Given the description of an element on the screen output the (x, y) to click on. 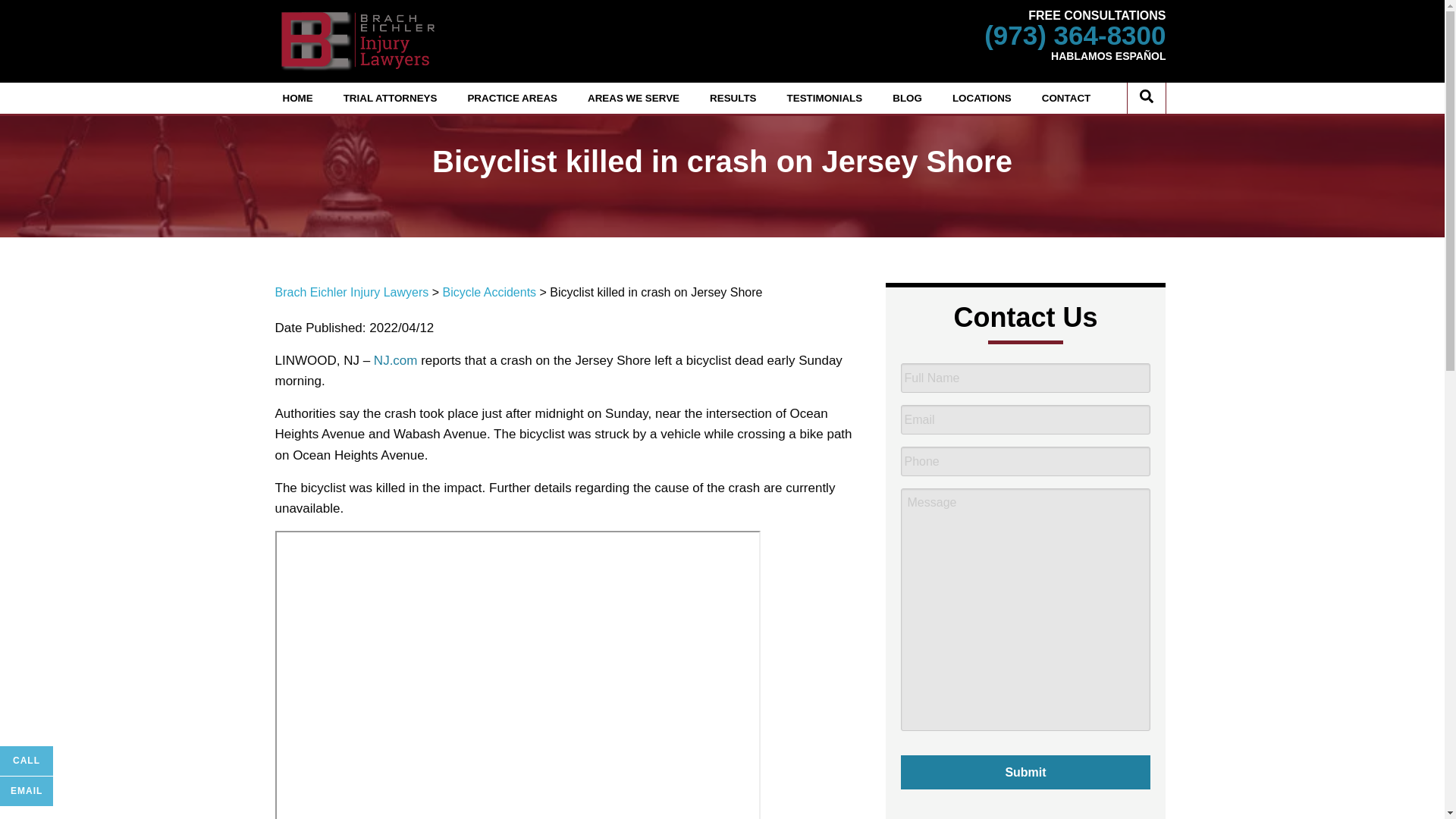
Go to Brach Eichler Injury Lawyers. (351, 291)
Go to the Bicycle Accidents category archives. (488, 291)
Submit (1026, 772)
